Given the description of an element on the screen output the (x, y) to click on. 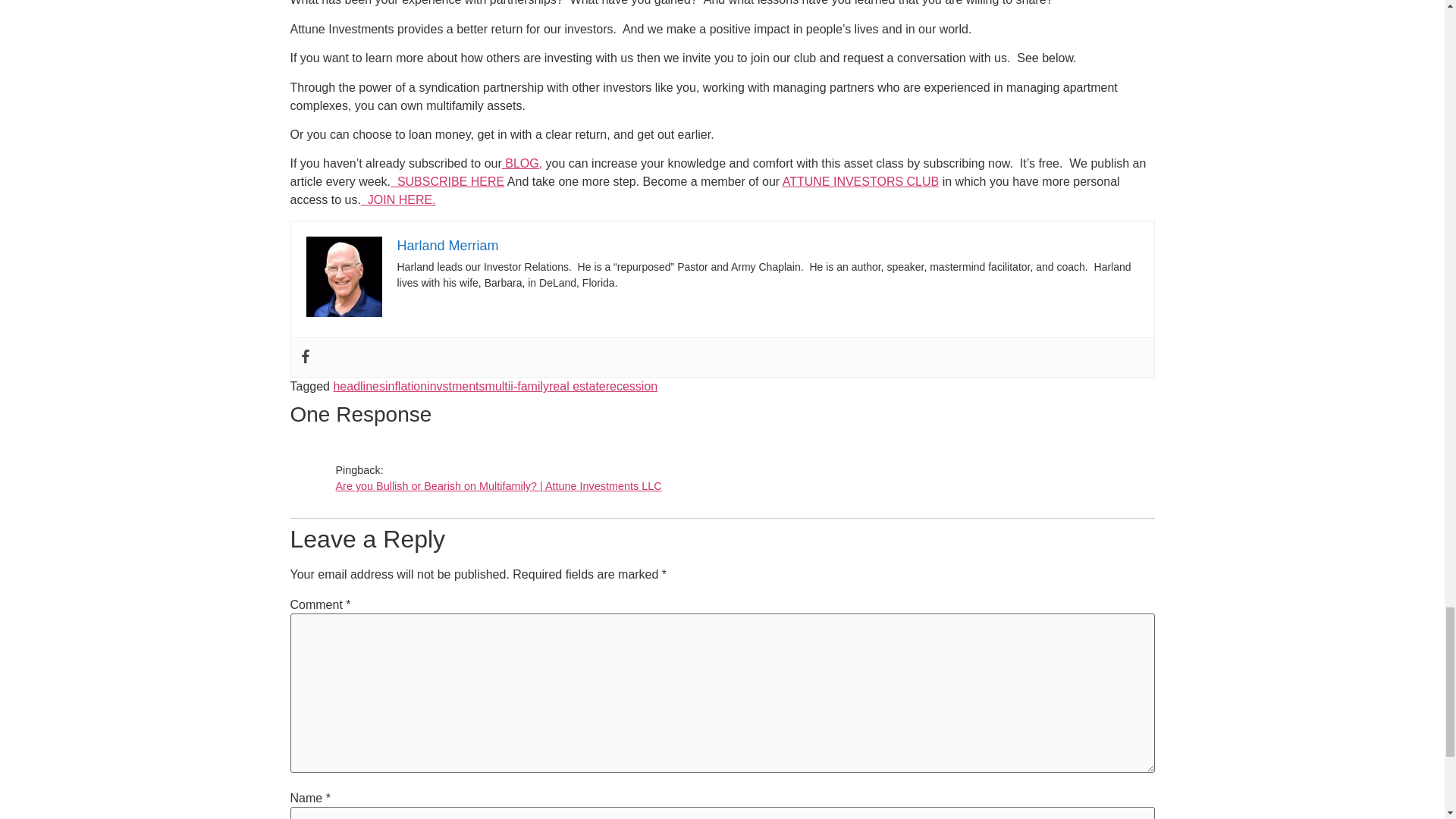
  SUBSCRIBE HERE (446, 181)
invstments (455, 386)
multii-family (516, 386)
ATTUNE INVESTORS CLUB (861, 181)
inflation (405, 386)
BLOG, (521, 163)
recession (631, 386)
Harland Merriam (448, 245)
headlines (359, 386)
  JOIN HERE. (398, 199)
real estate (576, 386)
